Given the description of an element on the screen output the (x, y) to click on. 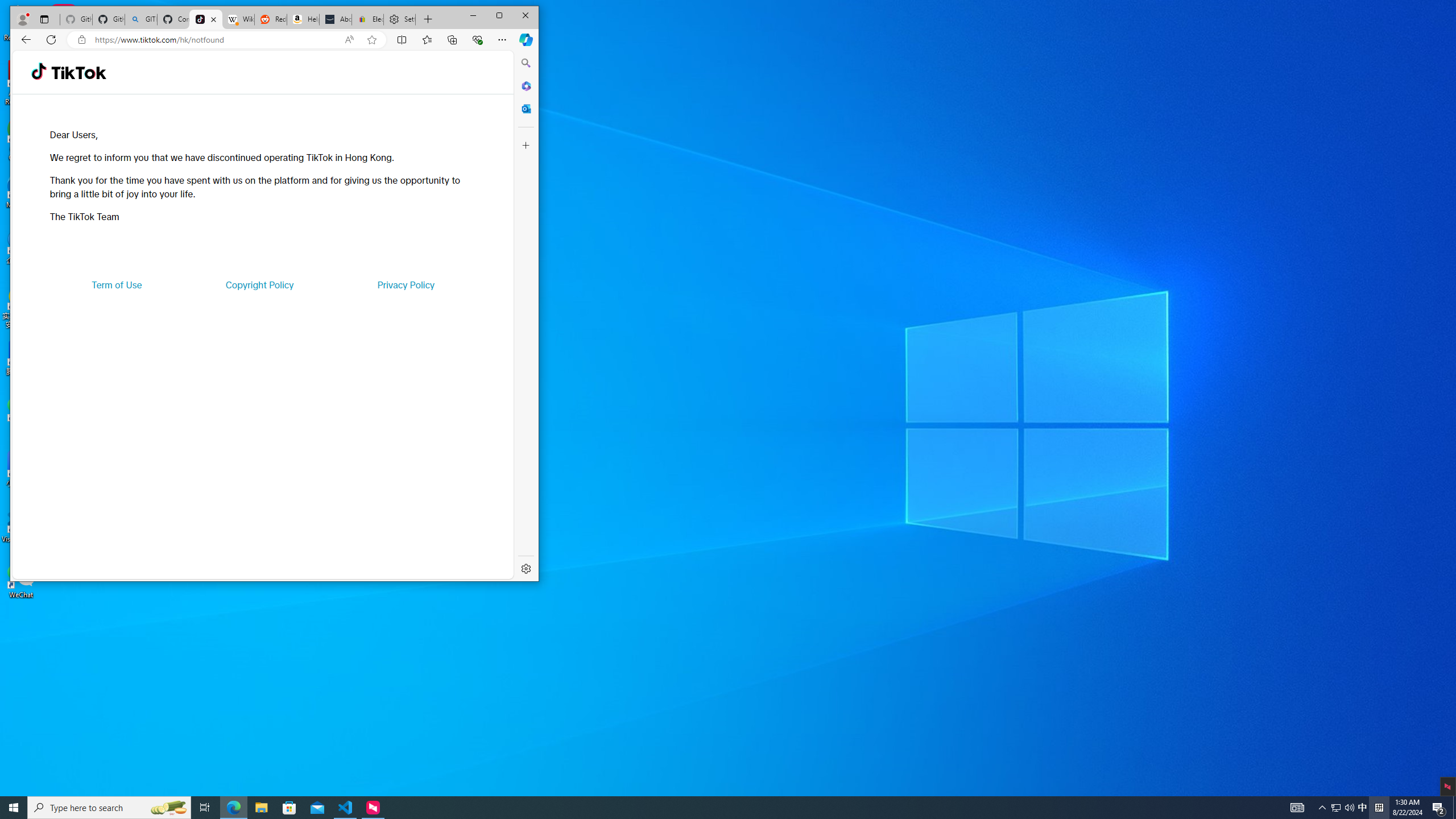
Wikipedia, the free encyclopedia (237, 19)
Type here to search (1362, 807)
Maximize (108, 807)
User Promoted Notification Area (499, 15)
Start (1342, 807)
GITHUB - Search (1335, 807)
Microsoft Store (13, 807)
